Given the description of an element on the screen output the (x, y) to click on. 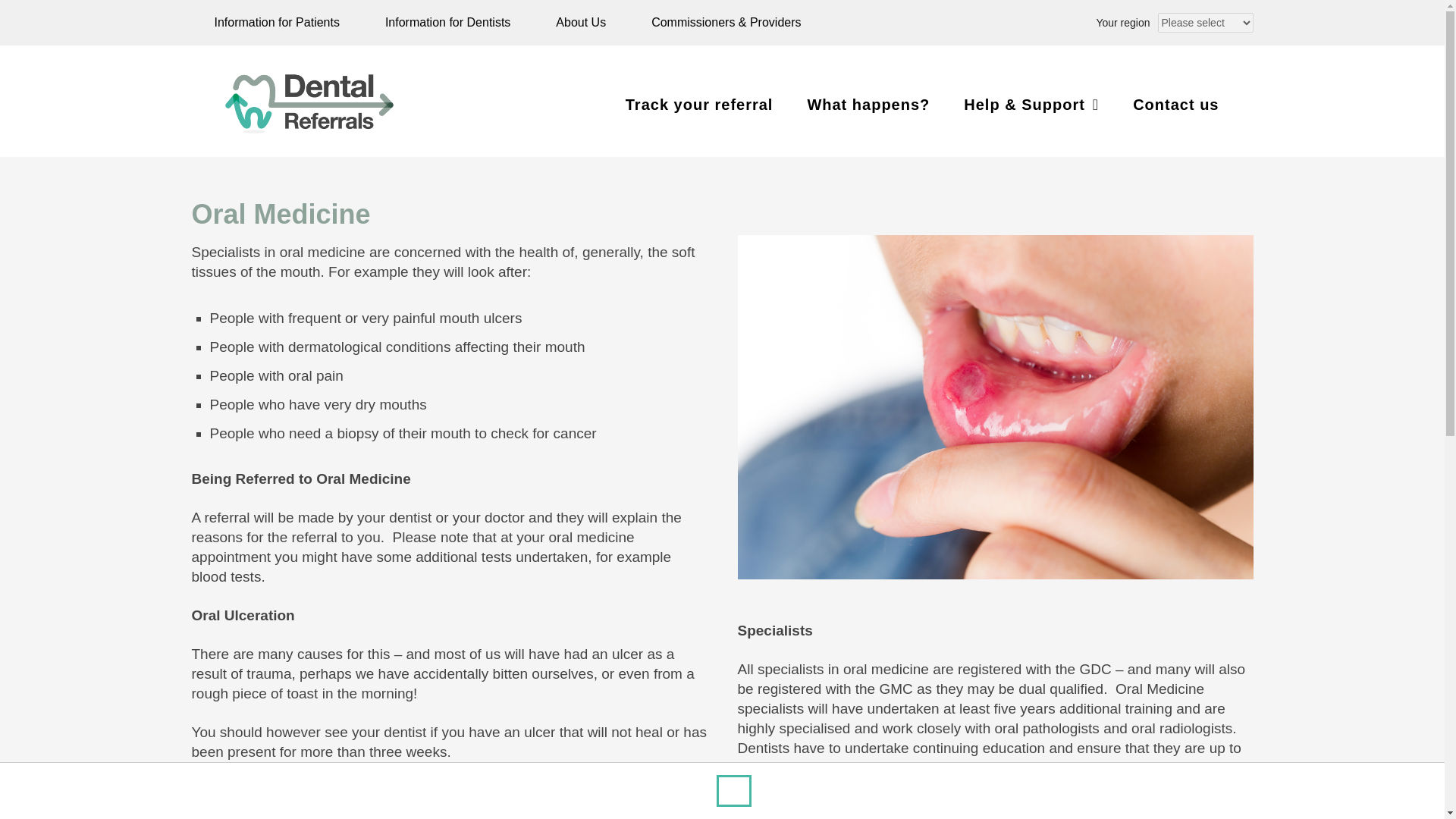
Contact us (1175, 104)
What happens? (868, 104)
About Us (580, 22)
Information for Patients (275, 22)
Information for Dentists (447, 22)
Track your referral (699, 104)
